Given the description of an element on the screen output the (x, y) to click on. 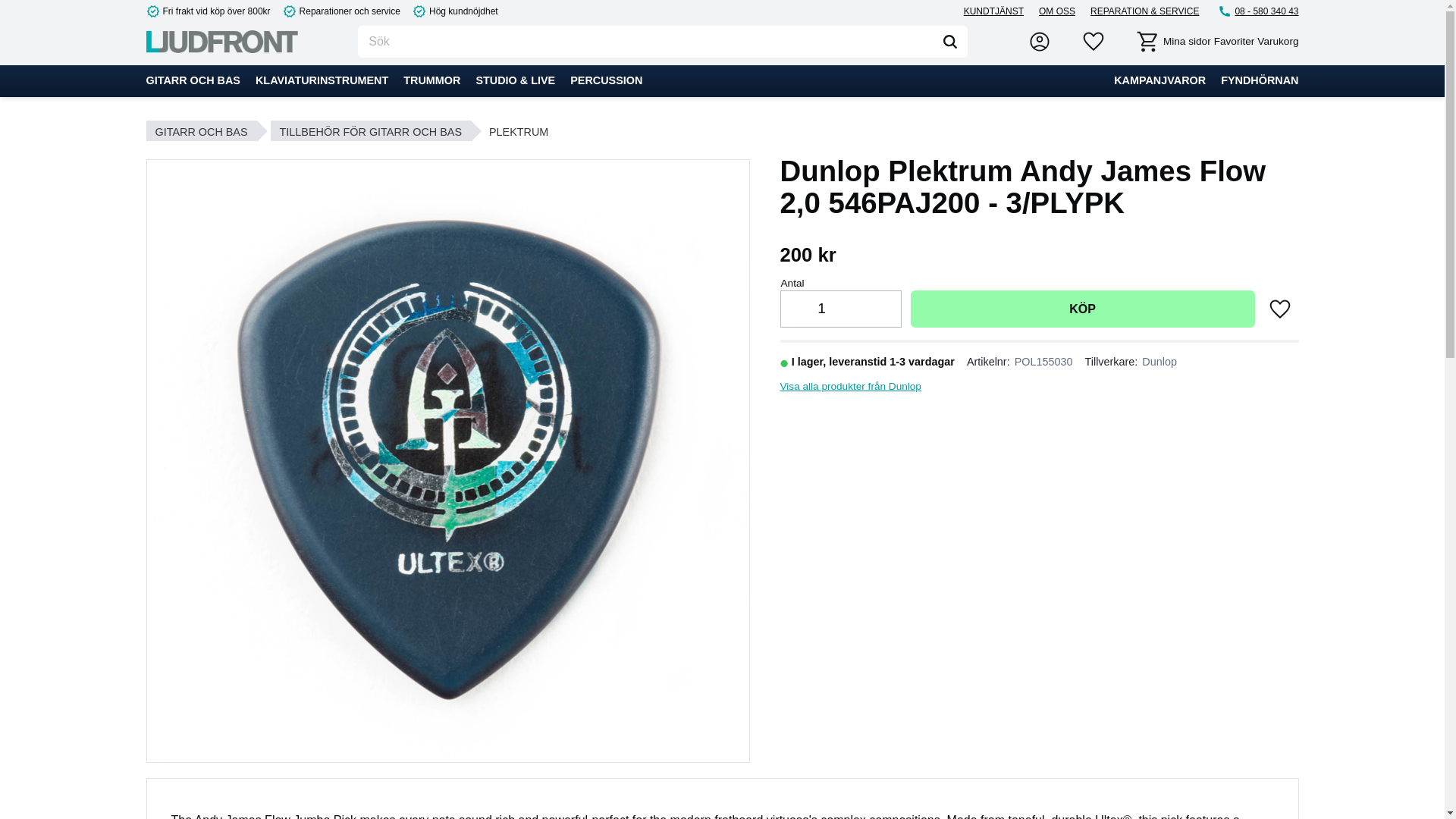
OM OSS (1056, 10)
GITARR OCH BAS (200, 130)
GITARR OCH BAS (192, 81)
Percussion (605, 81)
Klaviaturinstrument (321, 81)
KAMPANJVAROR (1159, 81)
PERCUSSION (605, 81)
TRUMMOR (431, 81)
KLAVIATURINSTRUMENT (321, 81)
Gitarr och bas (192, 81)
Trummor (431, 81)
Om oss (1056, 10)
1 (821, 308)
08 - 580 340 43 (1257, 11)
Kampanjvaror (1159, 81)
